Given the description of an element on the screen output the (x, y) to click on. 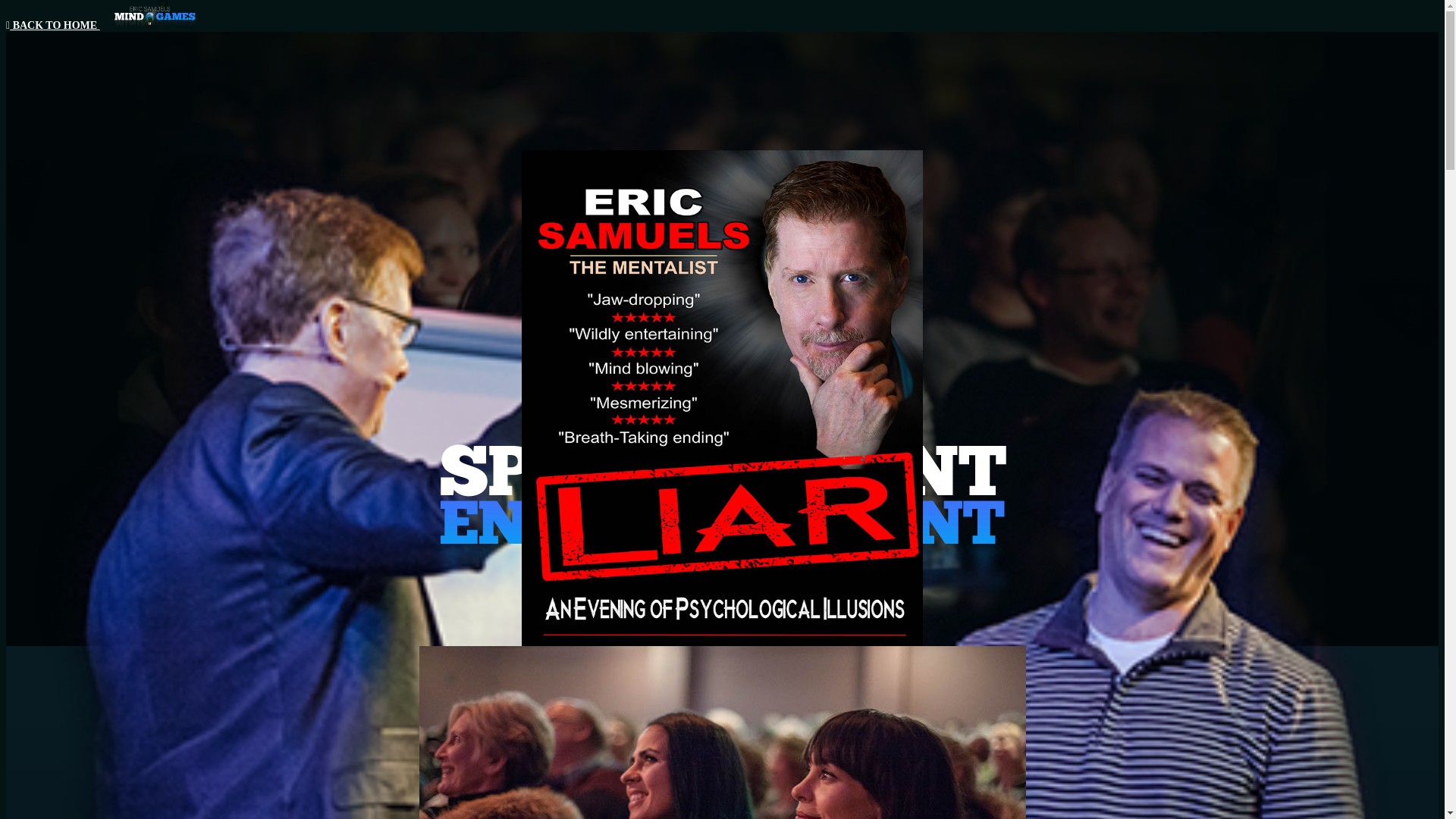
BACK TO HOME (106, 25)
